Given the description of an element on the screen output the (x, y) to click on. 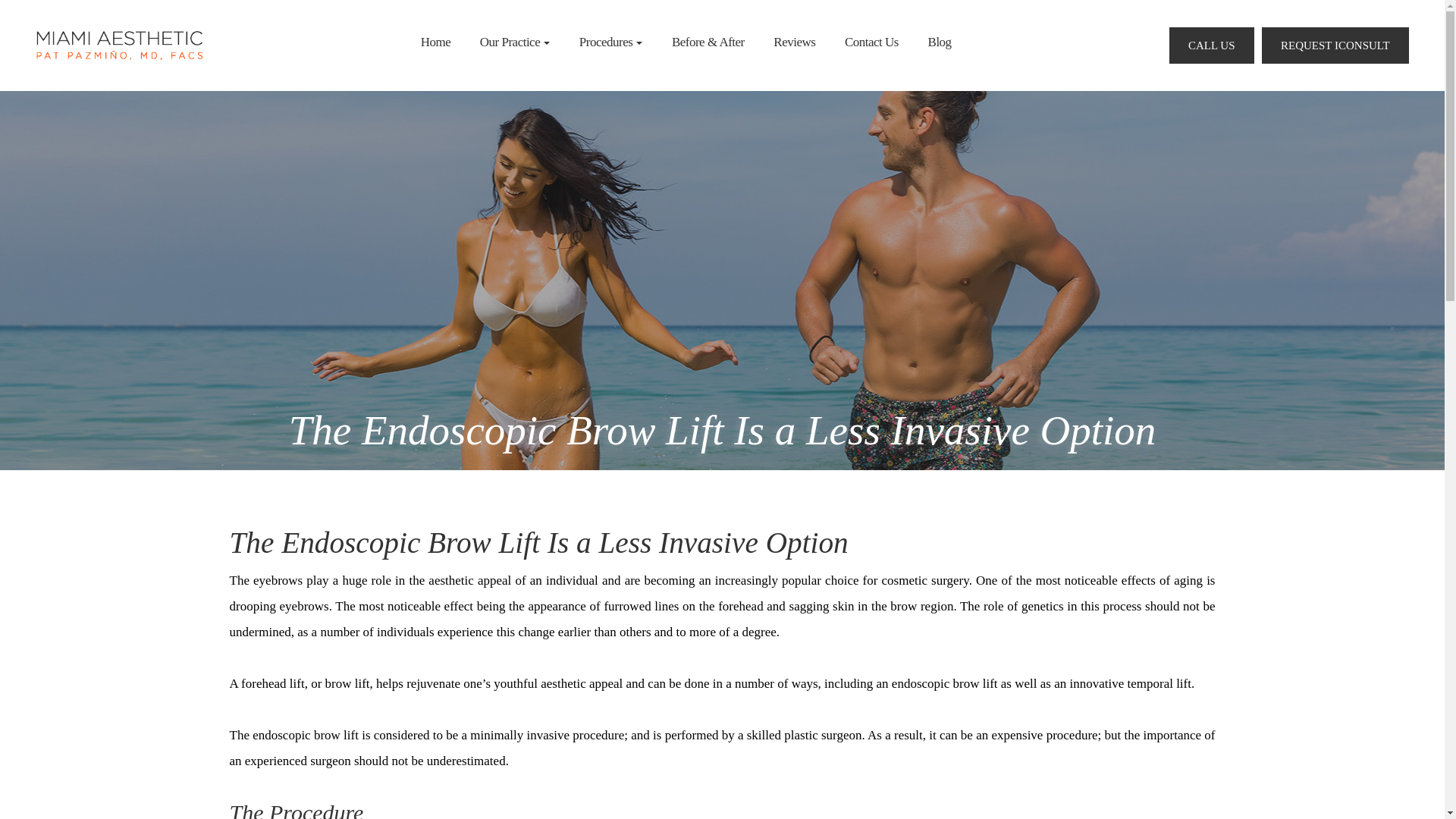
Home (435, 42)
Our Practice (515, 42)
Procedures (611, 42)
